Given the description of an element on the screen output the (x, y) to click on. 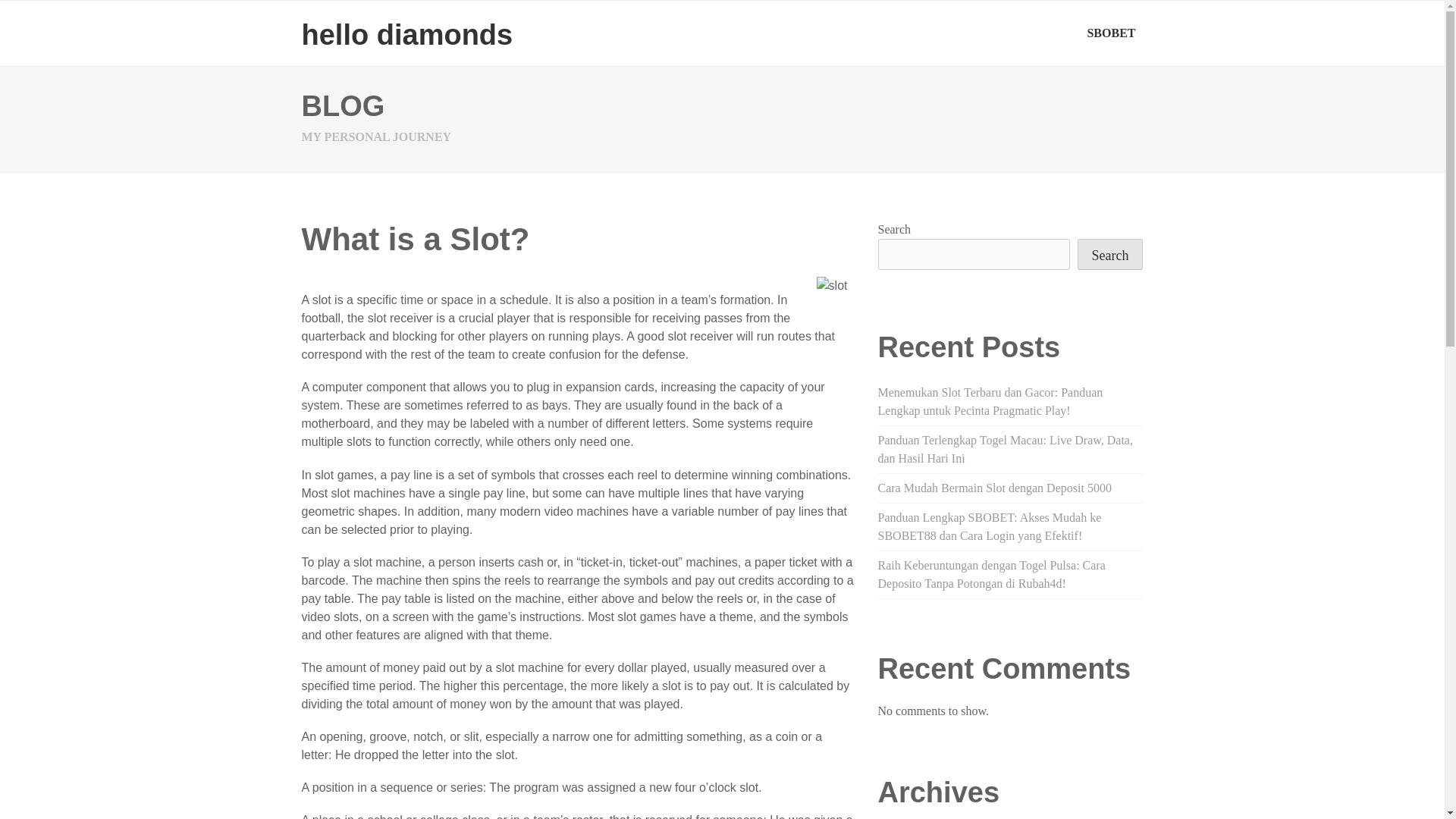
Search (1109, 254)
SBOBET (1110, 33)
hello diamonds (407, 34)
Cara Mudah Bermain Slot dengan Deposit 5000 (994, 487)
